Given the description of an element on the screen output the (x, y) to click on. 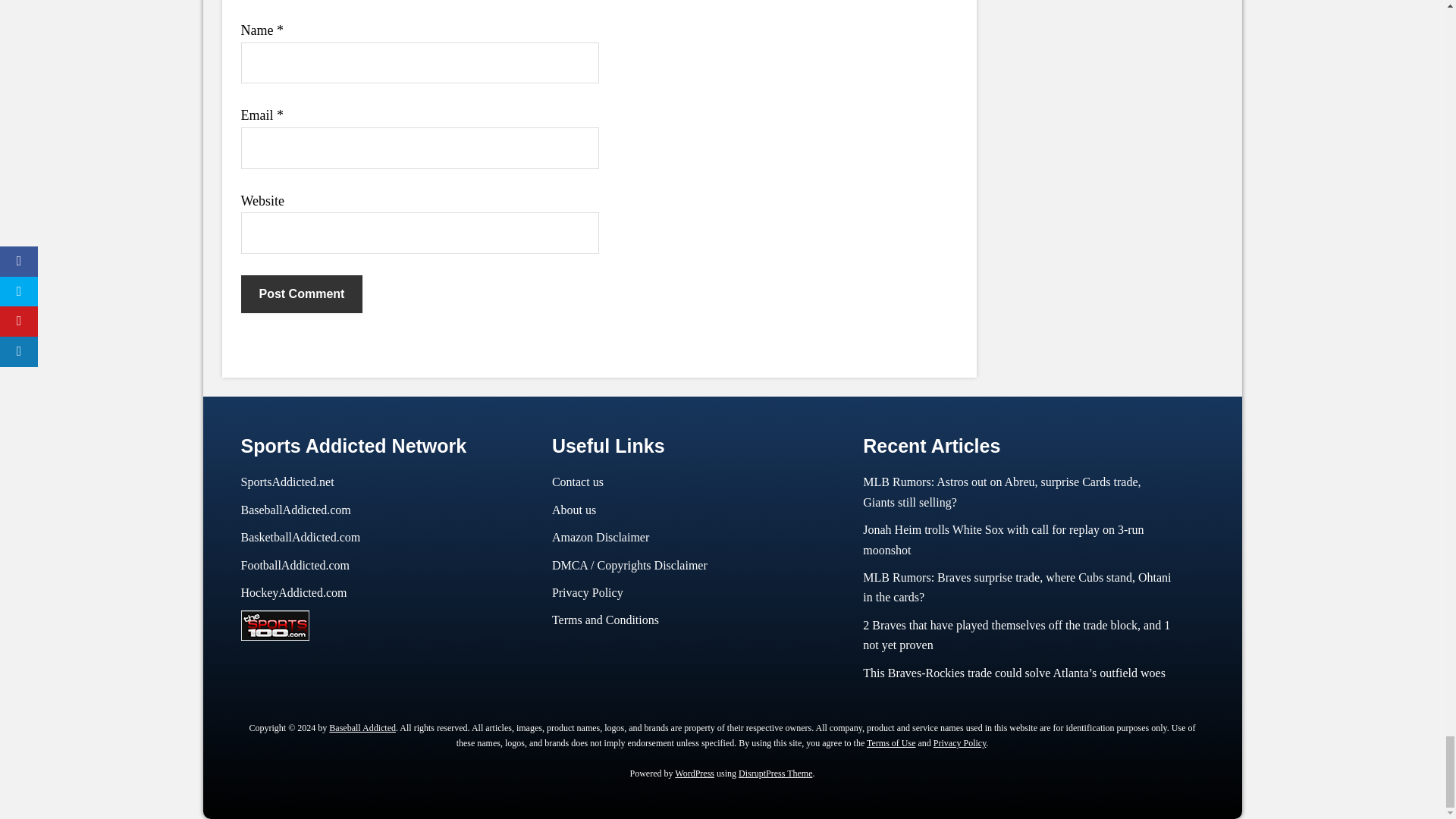
Post Comment (301, 293)
